Given the description of an element on the screen output the (x, y) to click on. 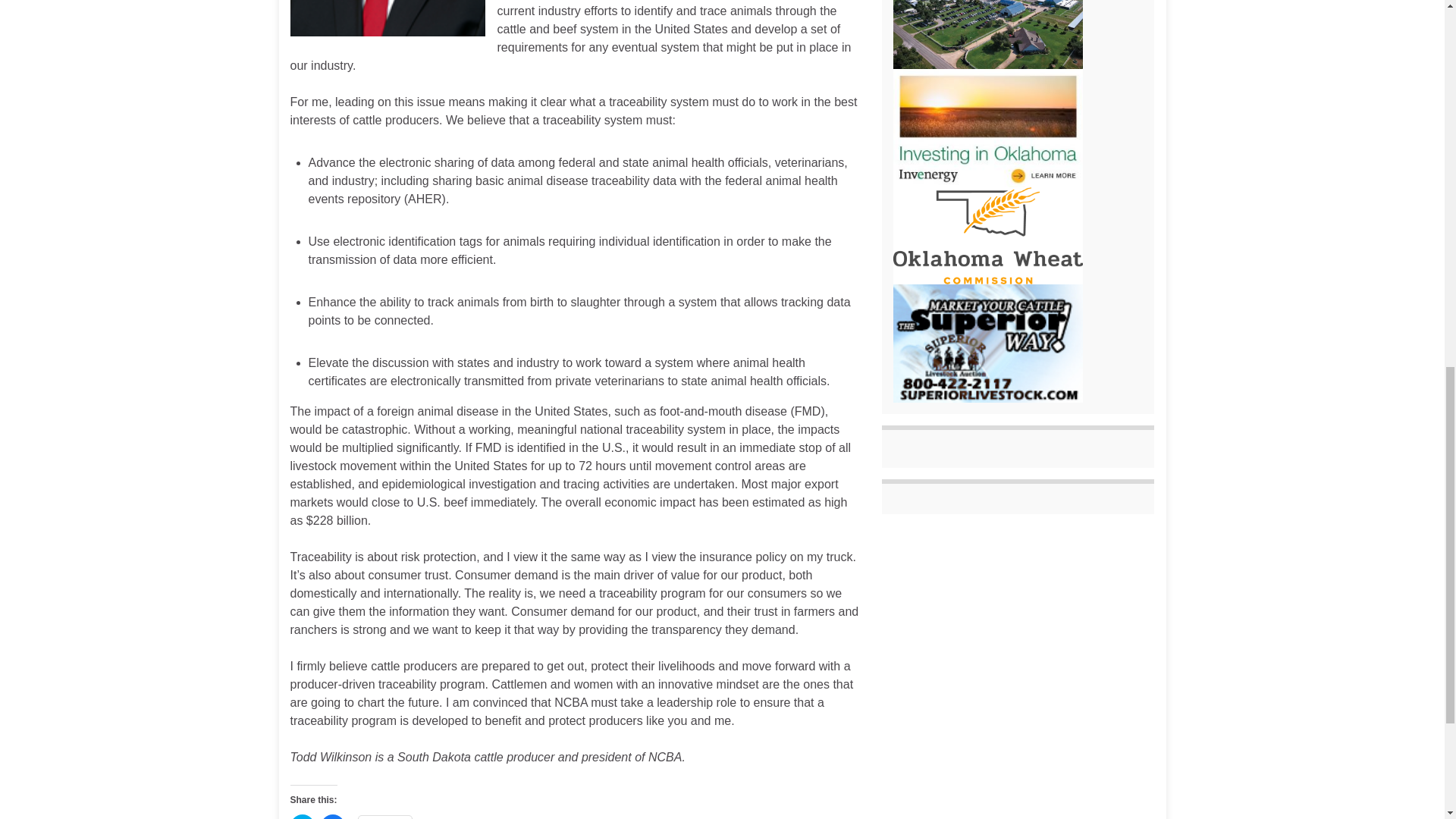
Click to share on Facebook (331, 816)
Click to share on Twitter (301, 816)
